Given the description of an element on the screen output the (x, y) to click on. 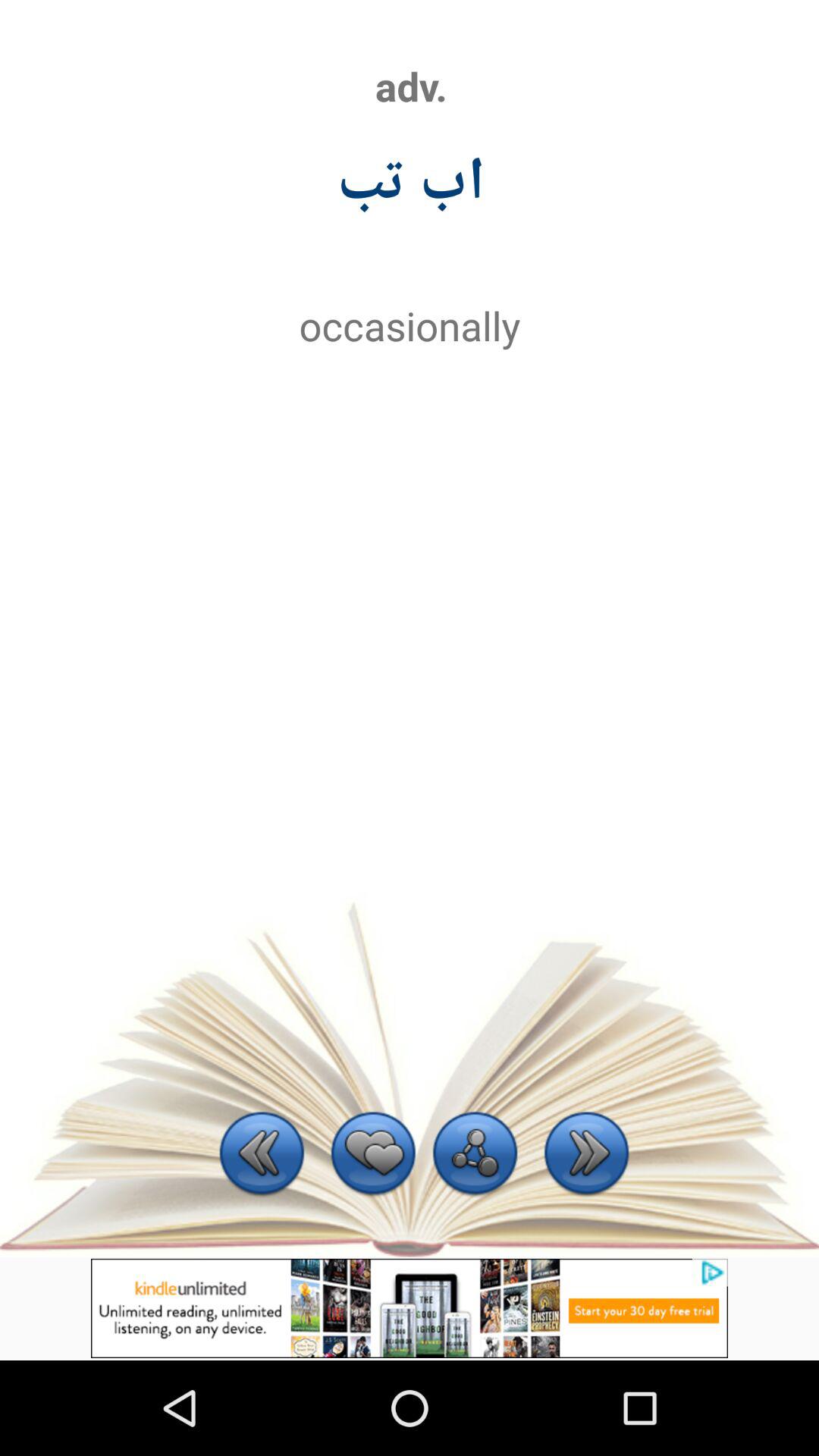
preferred (373, 1155)
